Given the description of an element on the screen output the (x, y) to click on. 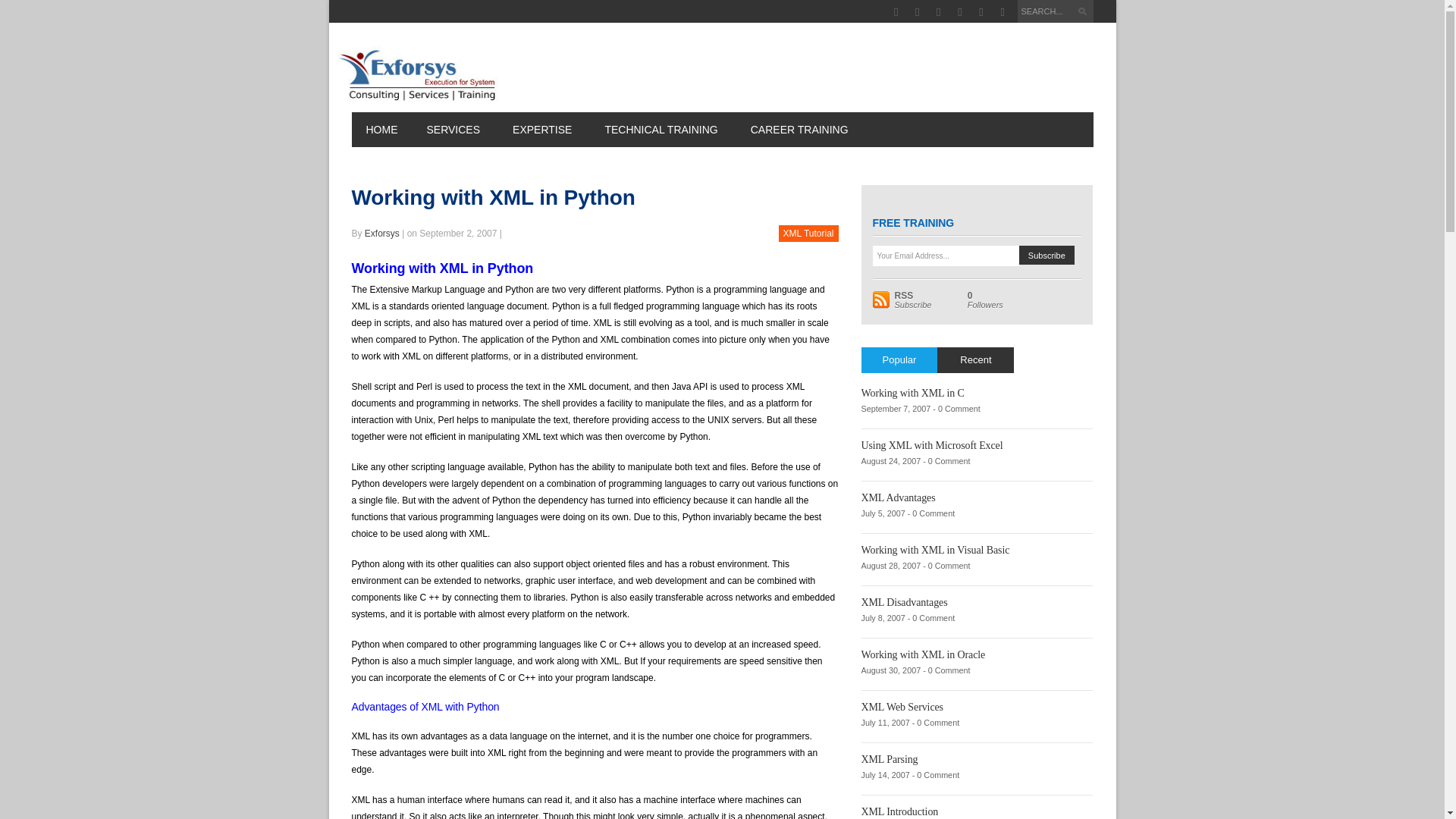
XML Disadvantages (904, 602)
Posts by Exforsys (381, 233)
RSS (1002, 11)
XML Parsing (889, 758)
XML Introduction (900, 811)
Your Email Address... (945, 255)
Subscribe (1046, 254)
Twitter (937, 11)
Working with XML in C (912, 392)
Using XML with Microsoft Excel (932, 445)
